Given the description of an element on the screen output the (x, y) to click on. 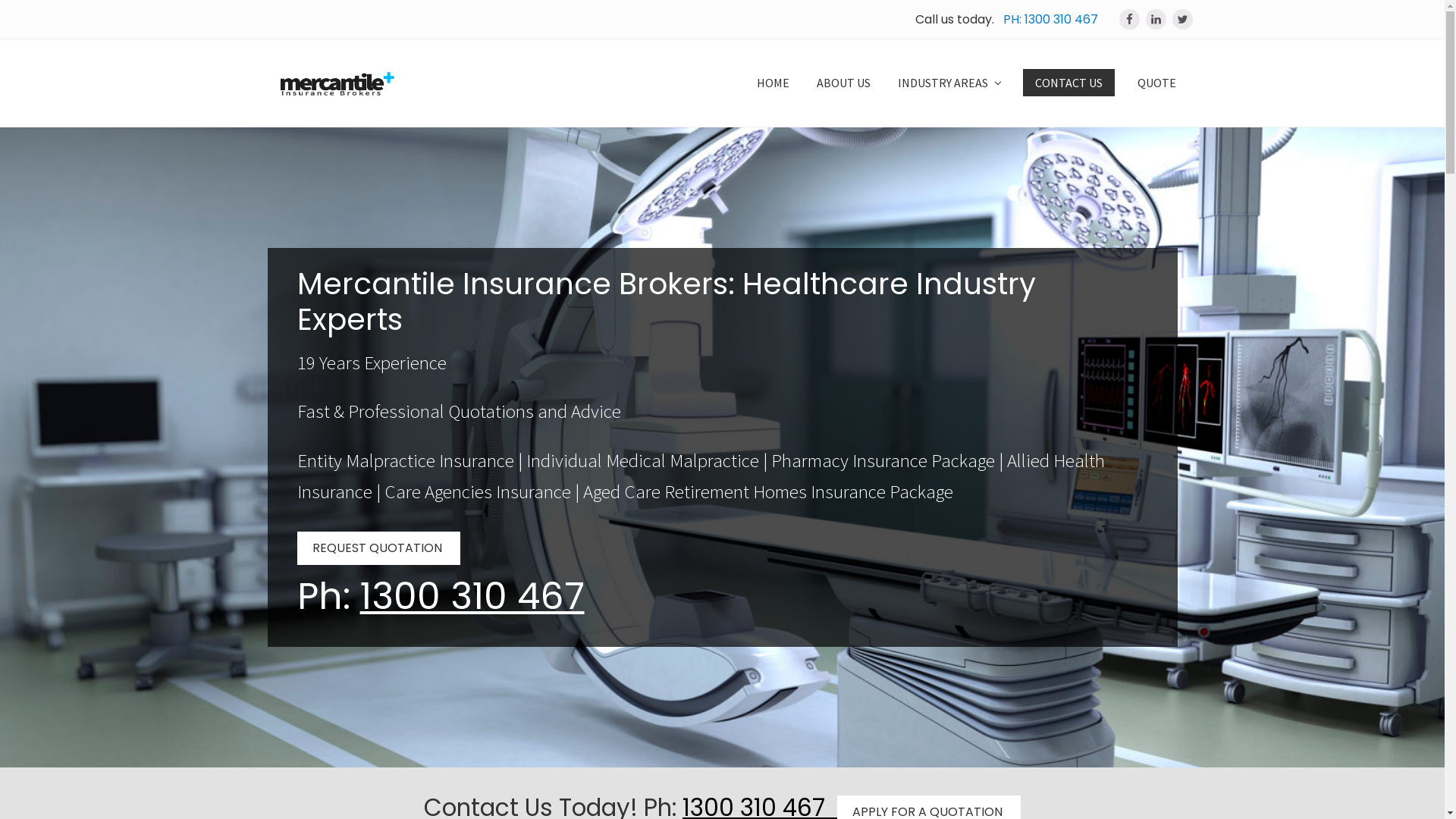
INDUSTRY AREAS Element type: text (948, 83)
HOME Element type: text (772, 83)
Skip to right header navigation Element type: text (0, 0)
QUOTE Element type: text (1156, 83)
ABOUT US Element type: text (842, 83)
PH: 1300 310 467 Element type: text (1049, 19)
Twitter Element type: text (1182, 19)
1300 310 467 Element type: text (472, 595)
LinkedIn Element type: text (1155, 19)
CONTACT US Element type: text (1067, 83)
REQUEST QUOTATION  Element type: text (378, 547)
Facebook Element type: text (1129, 19)
